Given the description of an element on the screen output the (x, y) to click on. 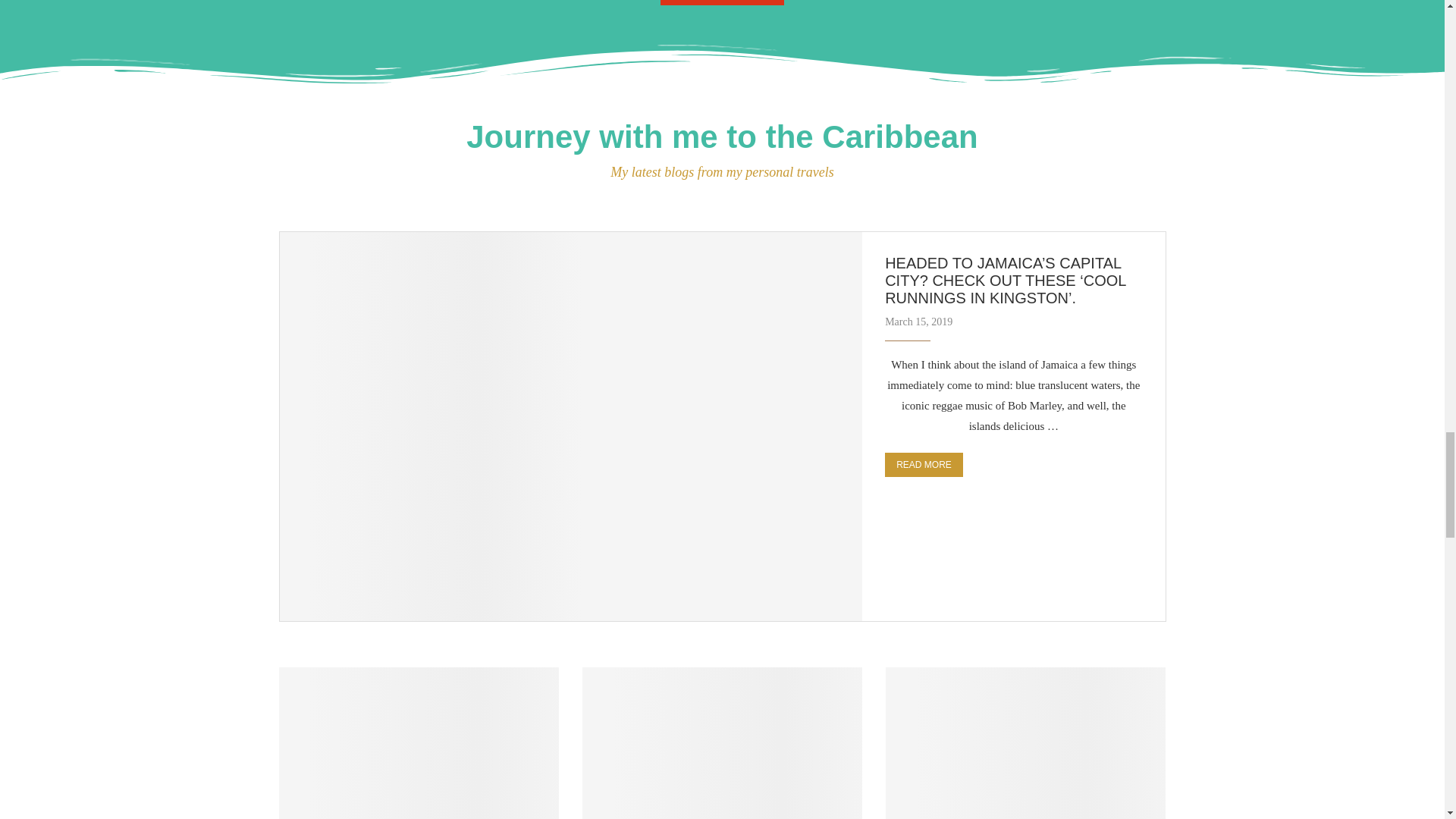
Video: Ricky Martin takes over Moon Palace in Cancun. (1025, 743)
Cuba is calling. Here why you should answer the call. (419, 743)
My recent visit to Cuba; what to know before you go. (722, 743)
